Given the description of an element on the screen output the (x, y) to click on. 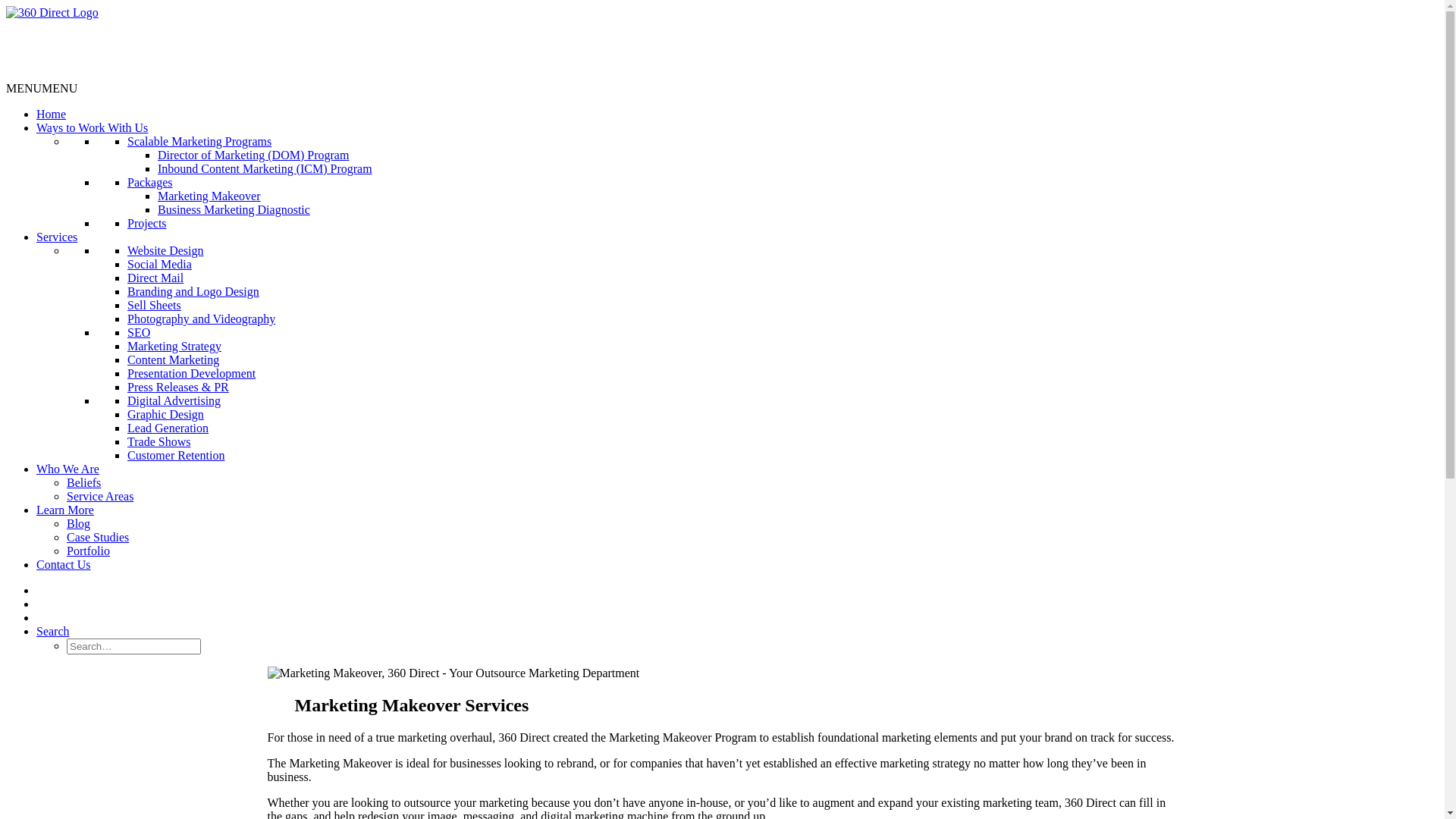
Learn More Element type: text (65, 509)
Branding and Logo Design Element type: text (193, 291)
Press Releases & PR Element type: text (178, 386)
Who We Are Element type: text (67, 468)
Scalable Marketing Programs Element type: text (199, 140)
Digital Advertising Element type: text (173, 400)
Services Element type: text (56, 236)
Director of Marketing (DOM) Program Element type: text (252, 154)
Beliefs Element type: text (83, 482)
Contact Us Element type: text (63, 564)
Blog Element type: text (78, 523)
Social Media Element type: text (159, 263)
Business Marketing Diagnostic Element type: text (233, 209)
Marketing Makeover Element type: text (208, 195)
Customer Retention Element type: text (175, 454)
Trade Shows Element type: text (158, 441)
SEO Element type: text (138, 332)
Search Element type: text (52, 630)
Graphic Design Element type: text (165, 413)
Website Design Element type: text (165, 250)
Content Marketing Element type: text (173, 359)
Packages Element type: text (149, 181)
Presentation Development Element type: text (191, 373)
Direct Mail Element type: text (155, 277)
Photography and Videography Element type: text (201, 318)
Lead Generation Element type: text (167, 427)
Portfolio Element type: text (87, 550)
Case Studies Element type: text (97, 536)
Inbound Content Marketing (ICM) Program Element type: text (264, 168)
Home Element type: text (50, 113)
Projects Element type: text (146, 222)
Sell Sheets Element type: text (154, 304)
Service Areas Element type: text (99, 495)
Marketing Strategy Element type: text (174, 345)
Ways to Work With Us Element type: text (91, 127)
